Given the description of an element on the screen output the (x, y) to click on. 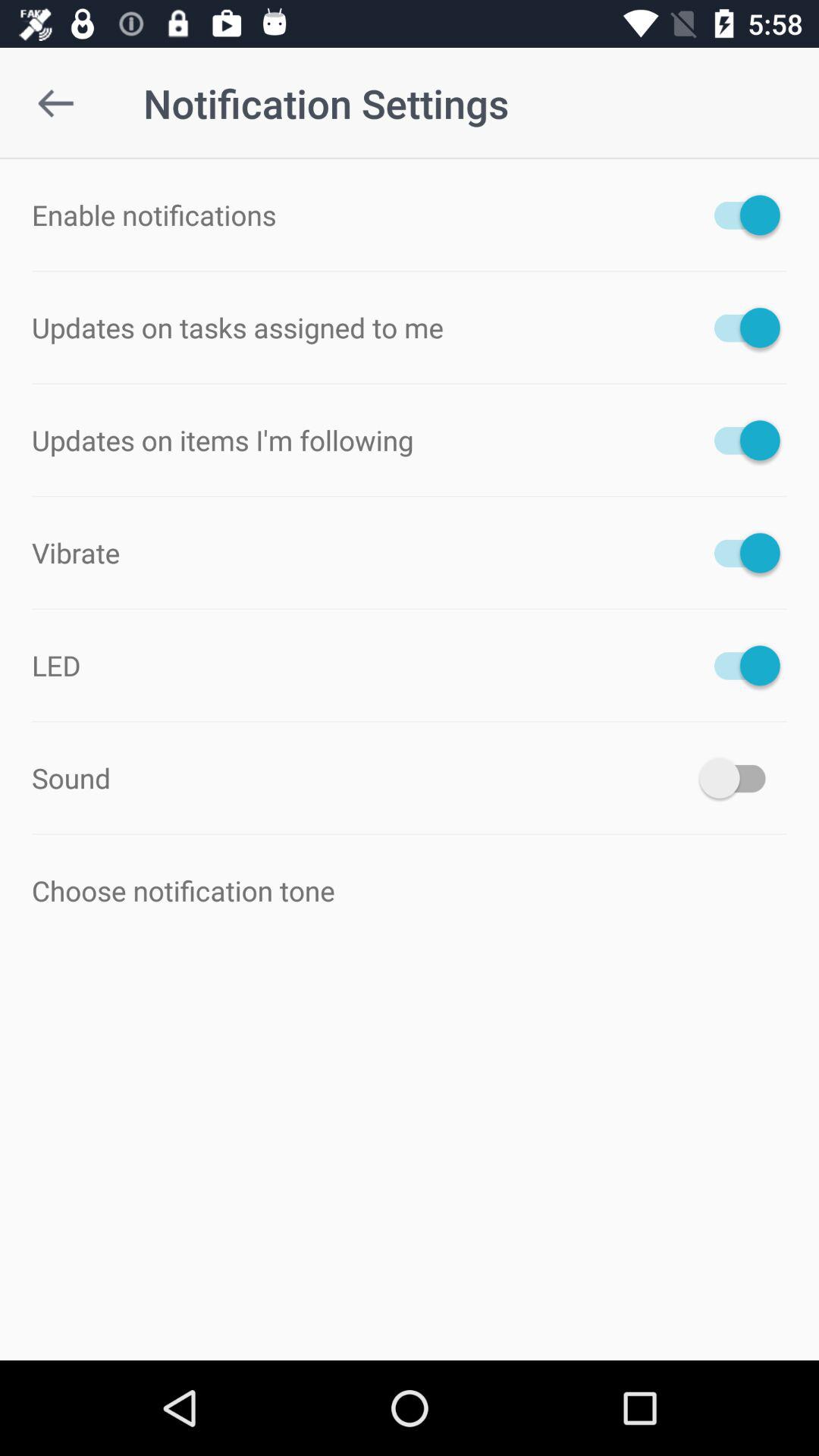
turn off item to the right of the led (739, 665)
